Given the description of an element on the screen output the (x, y) to click on. 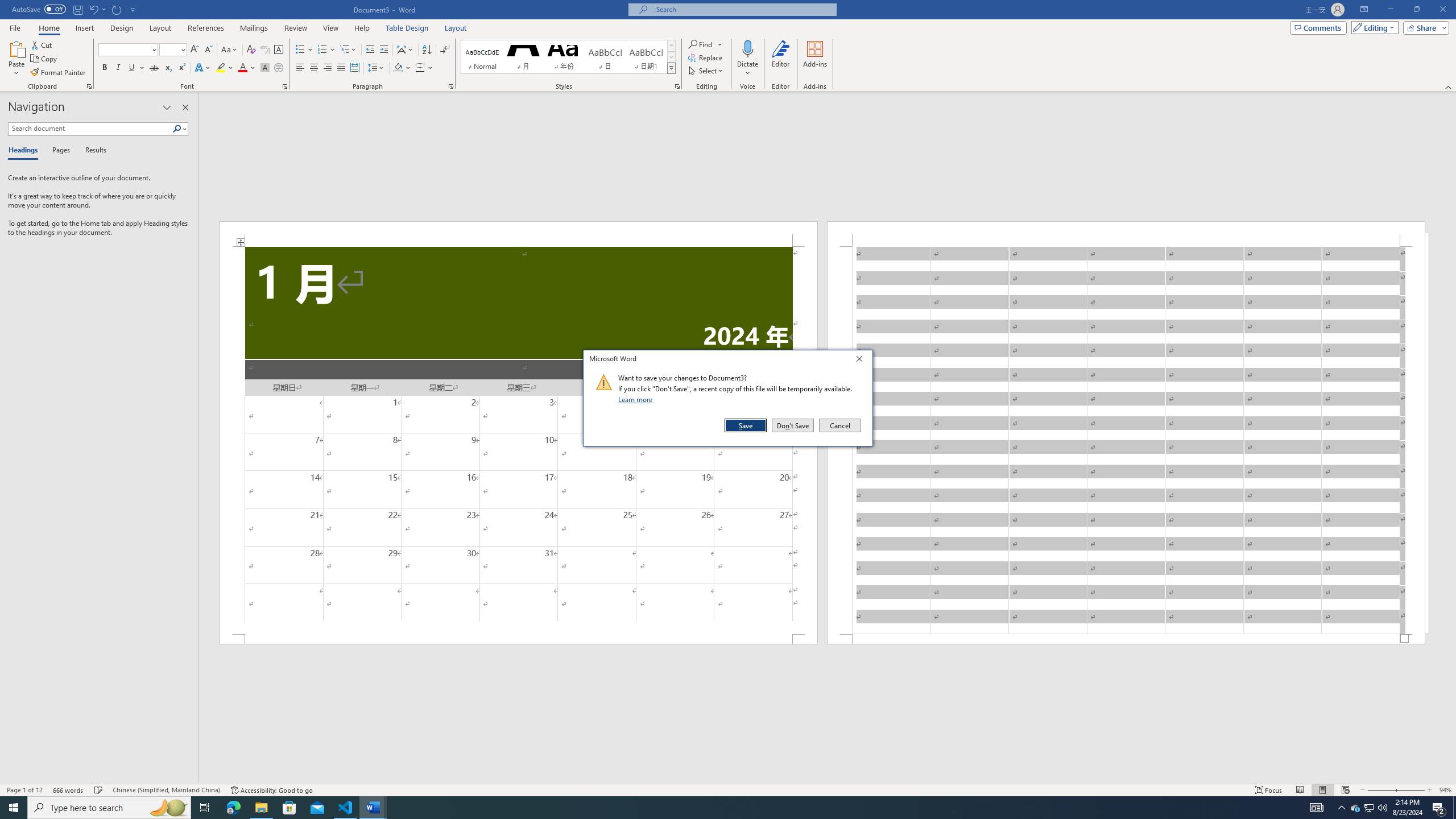
Type here to search (108, 807)
Headings (25, 150)
Review (295, 28)
Font... (285, 85)
Copy (45, 58)
Class: NetUIScrollBar (827, 778)
Font Size (169, 49)
Quick Access Toolbar (74, 9)
Task Pane Options (167, 107)
Bold (104, 67)
Restore Down (1416, 9)
Save (746, 425)
